Given the description of an element on the screen output the (x, y) to click on. 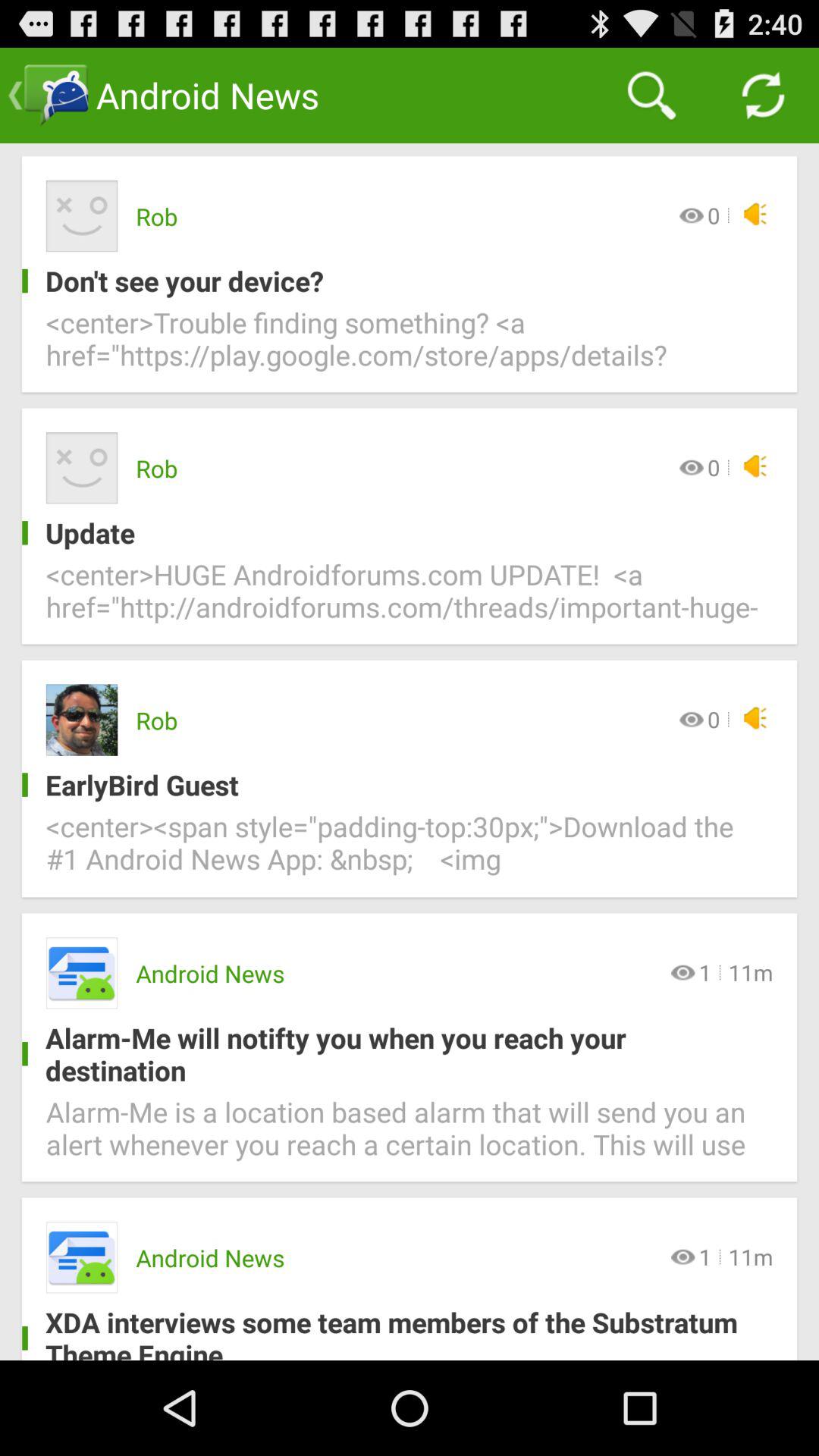
click the item below the earlybird guest item (409, 852)
